Given the description of an element on the screen output the (x, y) to click on. 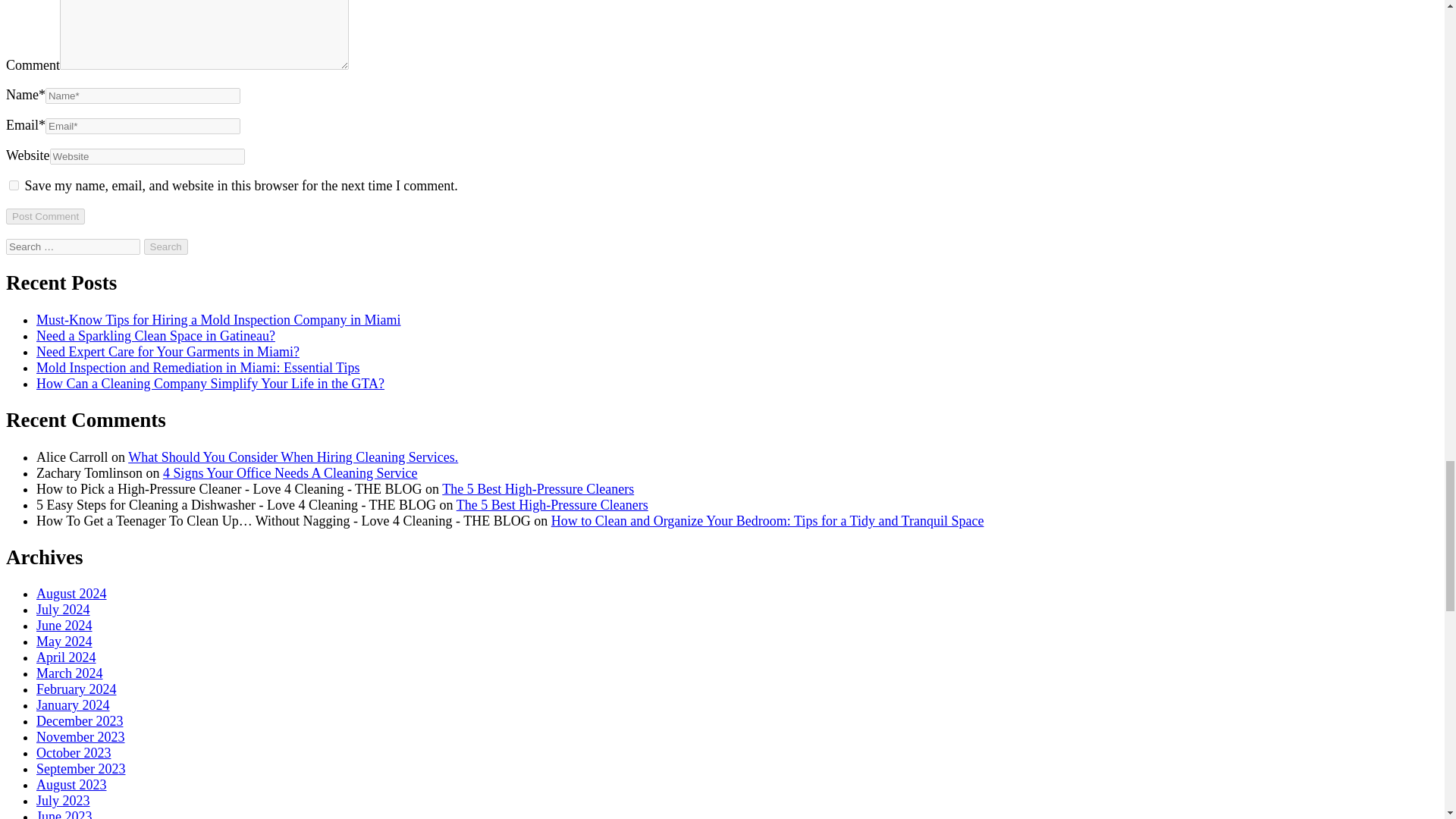
Post Comment (44, 216)
Search (165, 246)
yes (13, 185)
Search (165, 246)
